Given the description of an element on the screen output the (x, y) to click on. 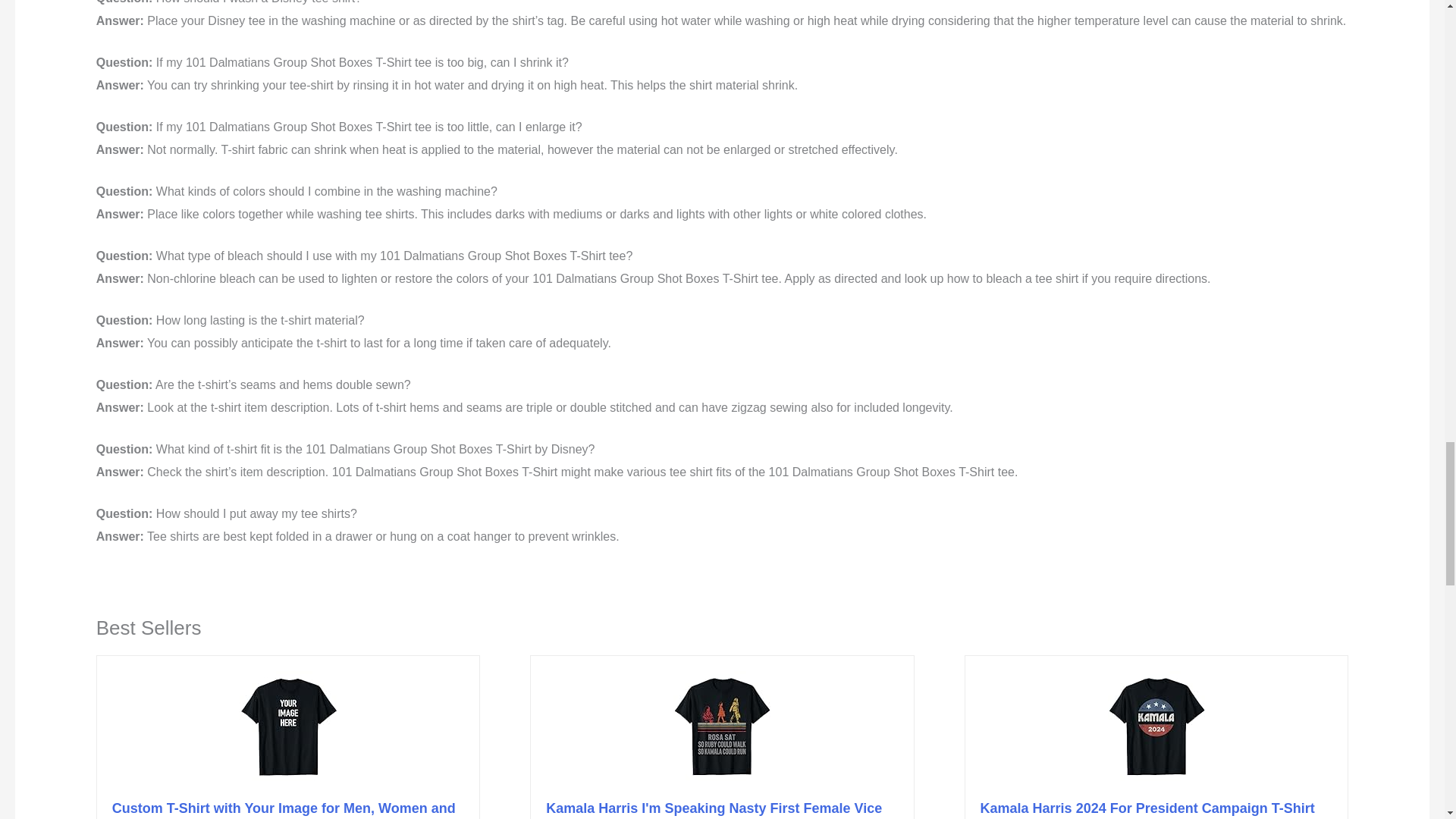
Kamala Harris 2024 For President Campaign T-Shirt (1146, 807)
